Given the description of an element on the screen output the (x, y) to click on. 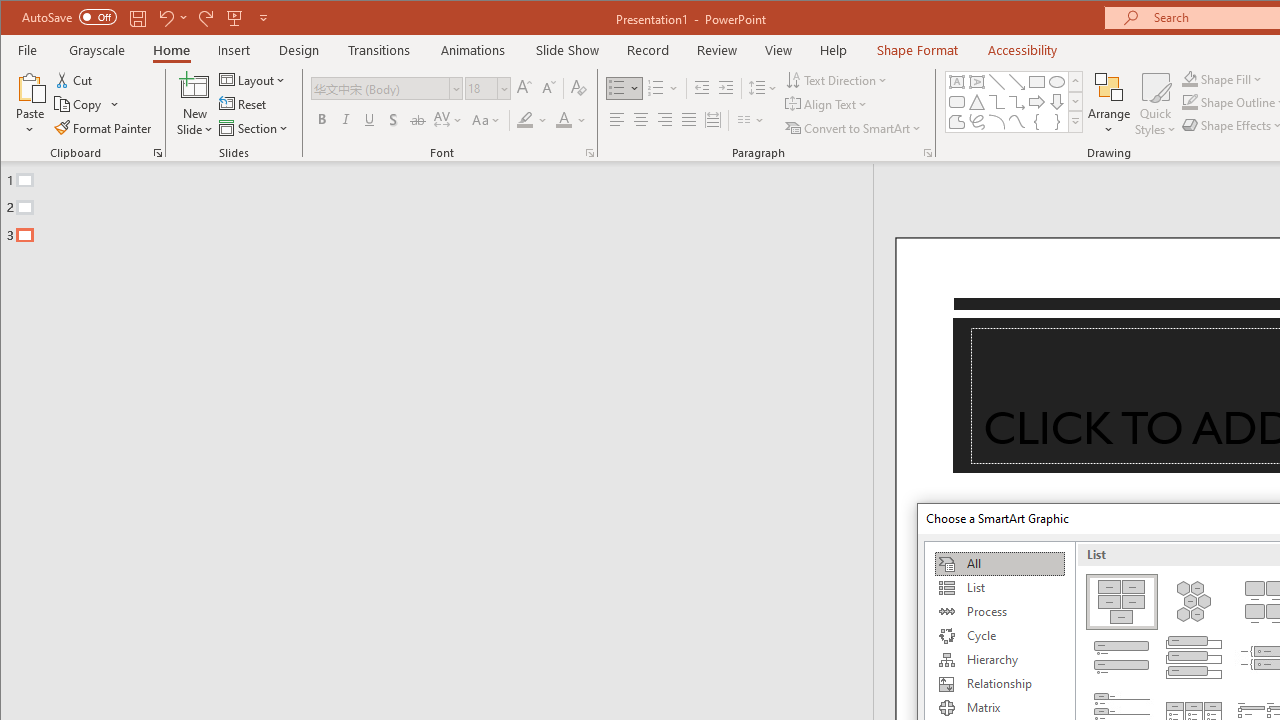
Numbering (663, 88)
Text Box (956, 82)
Align Right (664, 119)
Decrease Indent (701, 88)
Clear Formatting (579, 88)
Vertical Bullet List (1121, 658)
Freeform: Scribble (976, 121)
Outline (445, 203)
Shape Outline Blue, Accent 1 (1189, 101)
Copy (87, 103)
Process (999, 611)
